Given the description of an element on the screen output the (x, y) to click on. 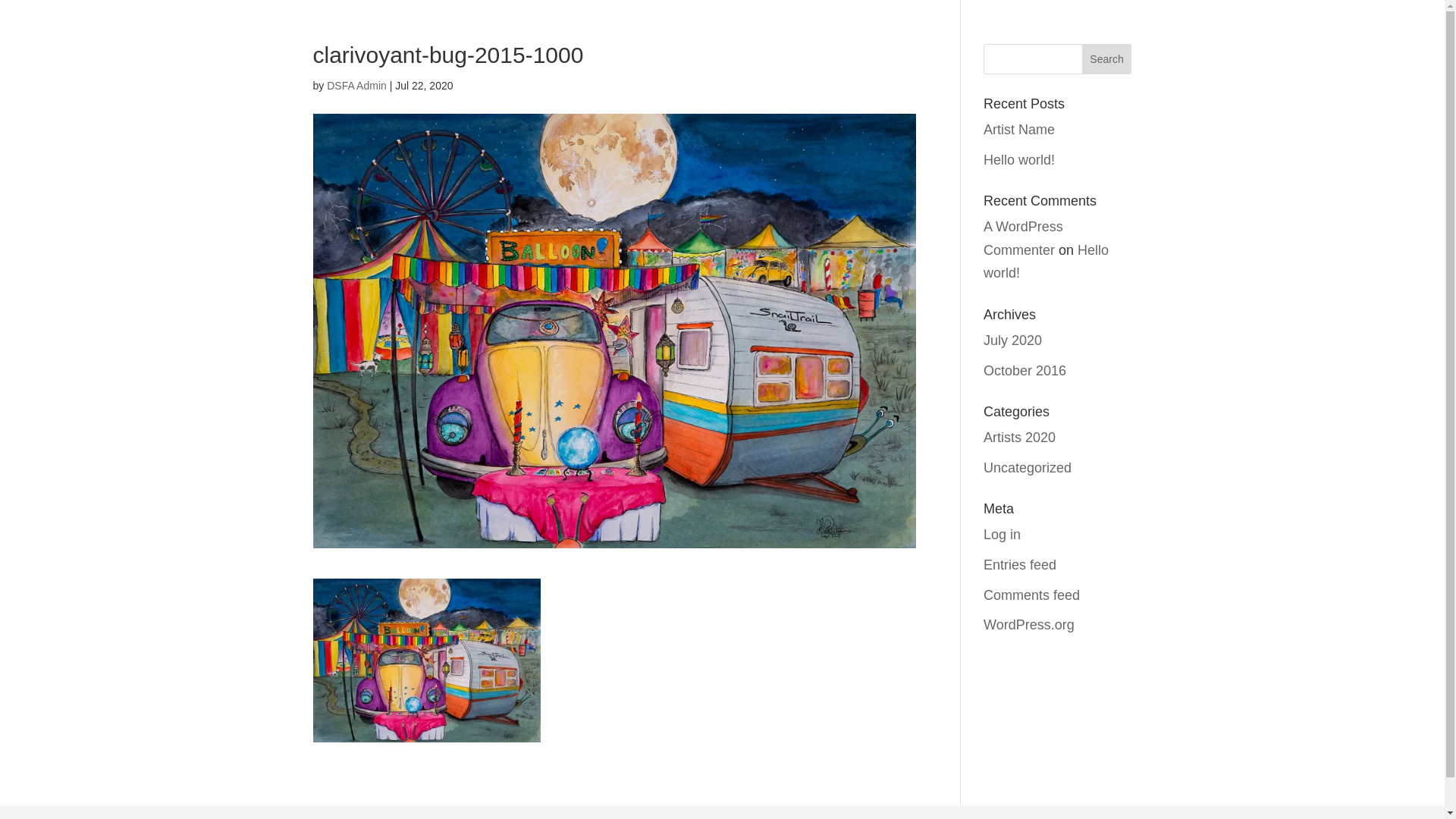
Uncategorized Element type: text (1027, 467)
Artists 2020 Element type: text (1019, 437)
Log in Element type: text (1001, 534)
Artist Name Element type: text (1018, 129)
July 2020 Element type: text (1012, 340)
Comments feed Element type: text (1031, 594)
Search Element type: text (1107, 58)
Hello world! Element type: text (1018, 159)
A WordPress Commenter Element type: text (1023, 238)
Entries feed Element type: text (1019, 564)
Hello world! Element type: text (1045, 261)
October 2016 Element type: text (1024, 370)
WordPress.org Element type: text (1028, 624)
DSFA Admin Element type: text (356, 85)
